Given the description of an element on the screen output the (x, y) to click on. 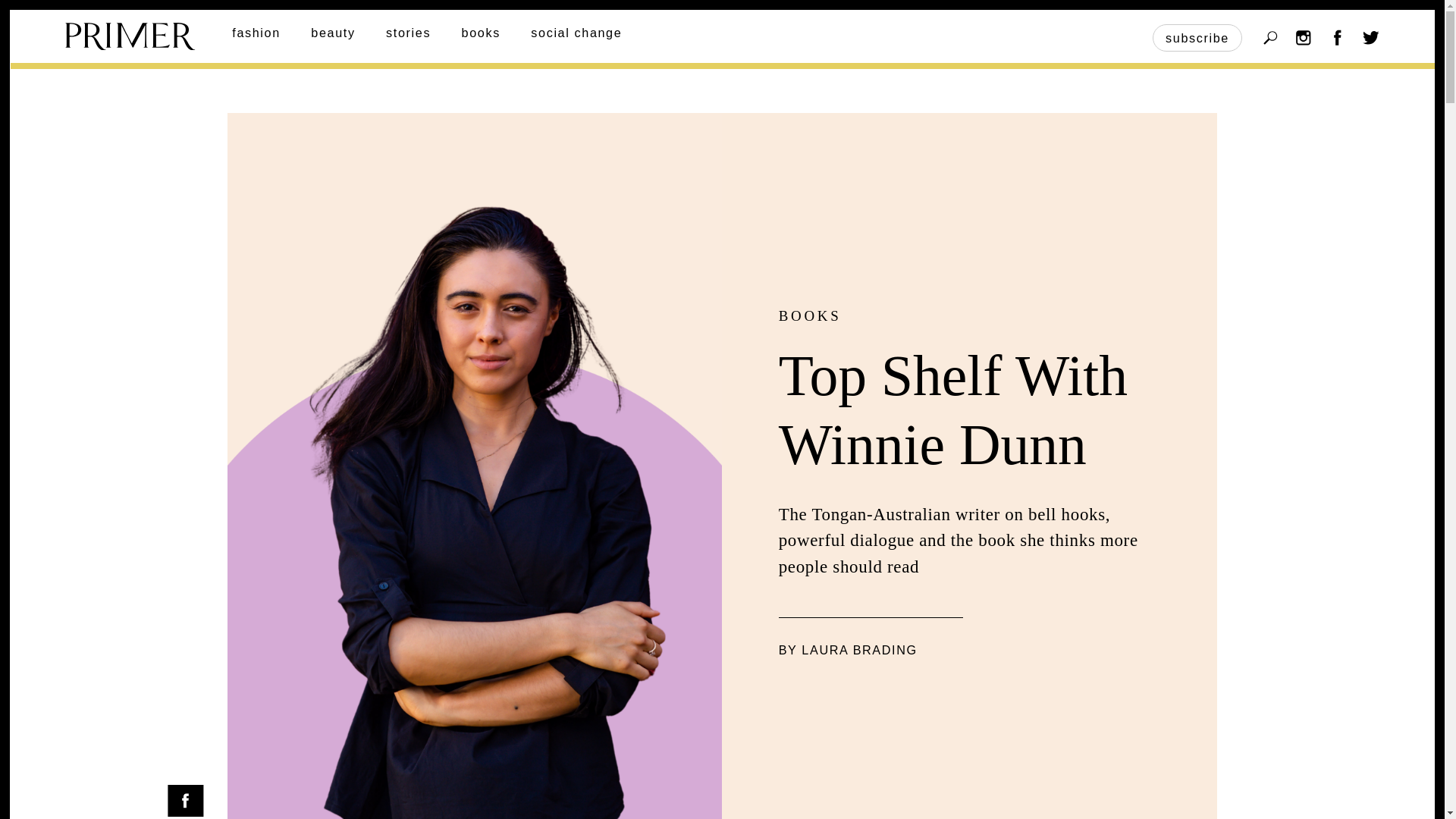
beauty (333, 32)
stories (407, 32)
fashion (256, 32)
books (480, 32)
social change (576, 32)
subscribe (1197, 37)
